Given the description of an element on the screen output the (x, y) to click on. 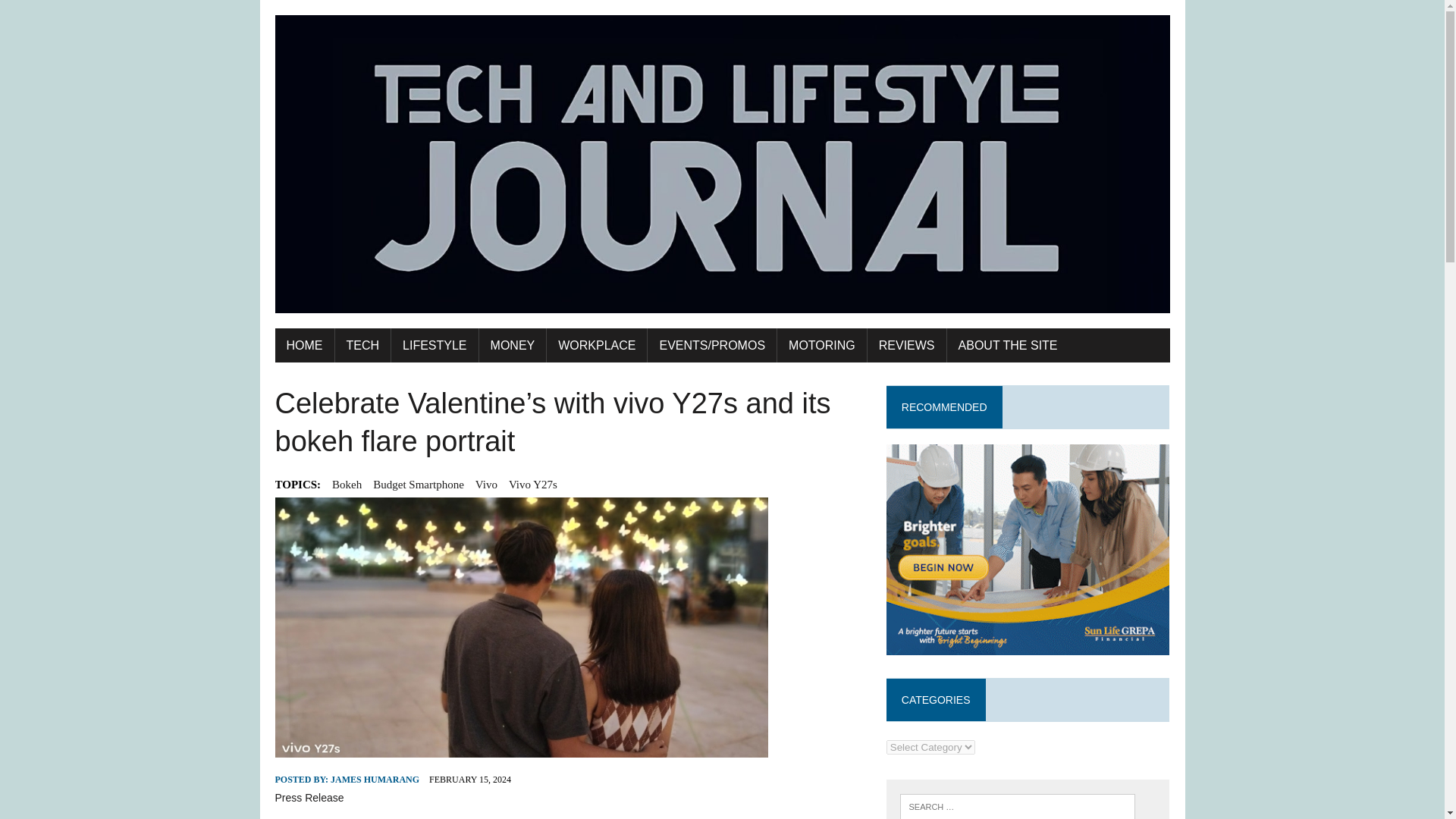
ABOUT THE SITE (1007, 345)
Bokeh (346, 484)
Vivo Y27s (532, 484)
LIFESTYLE (434, 345)
WORKPLACE (596, 345)
Vivo (486, 484)
Search (75, 14)
HOME (304, 345)
JAMES HUMARANG (374, 778)
